Given the description of an element on the screen output the (x, y) to click on. 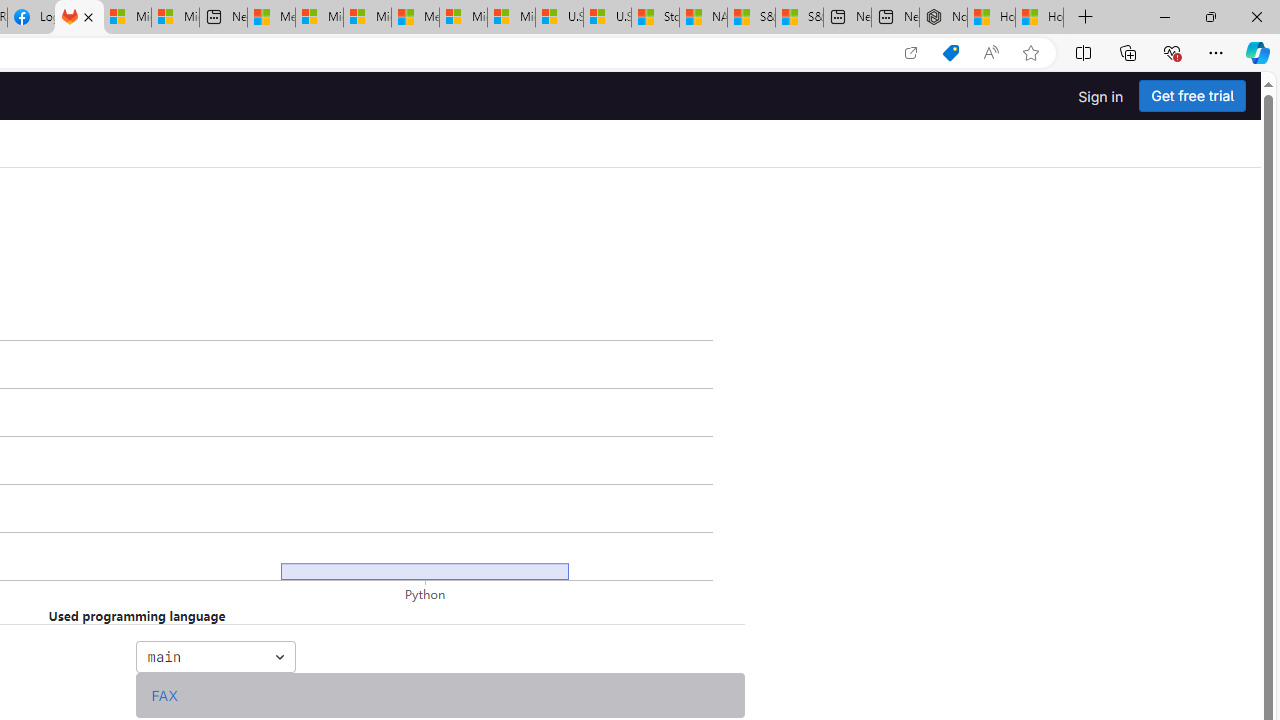
main (214, 656)
Get free trial (1192, 95)
FAX (164, 695)
Microsoft account | Home (367, 17)
Open in app (910, 53)
Sign in (1100, 95)
